Given the description of an element on the screen output the (x, y) to click on. 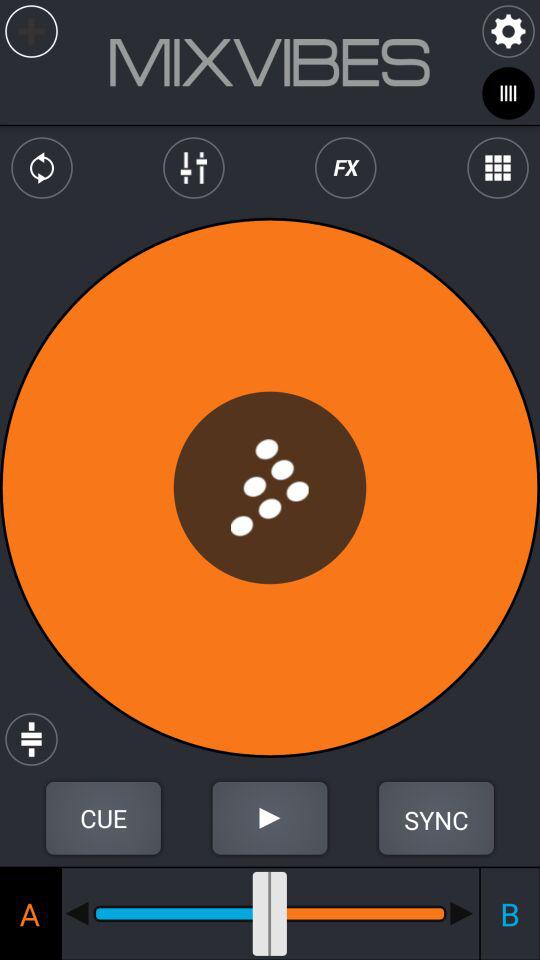
more options (497, 167)
